Given the description of an element on the screen output the (x, y) to click on. 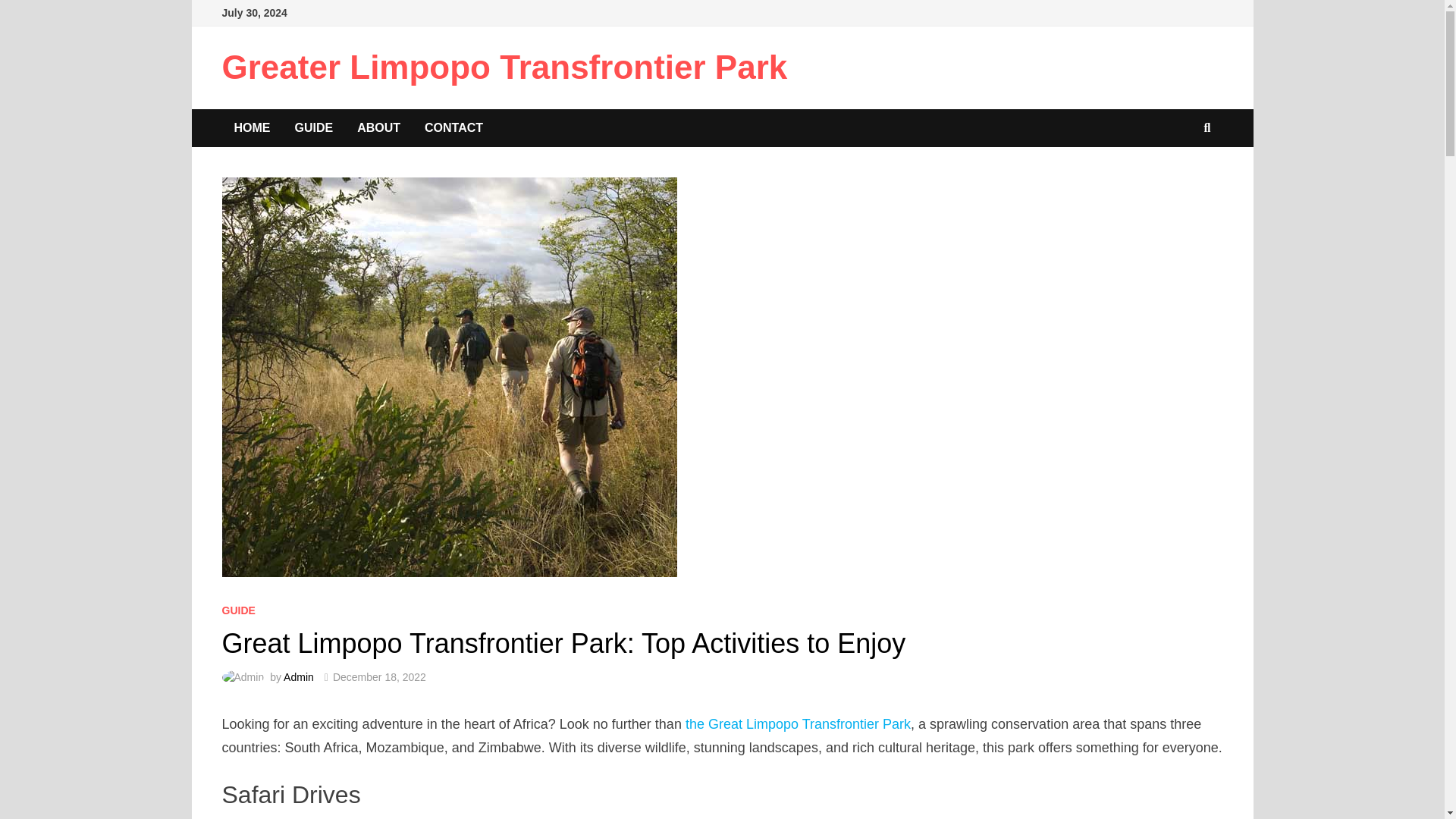
GUIDE (313, 127)
December 18, 2022 (379, 676)
ABOUT (378, 127)
Greater Limpopo Transfrontier Park (504, 66)
GUIDE (237, 610)
HOME (251, 127)
Admin (298, 676)
CONTACT (453, 127)
the Great Limpopo Transfrontier Park (798, 724)
